Given the description of an element on the screen output the (x, y) to click on. 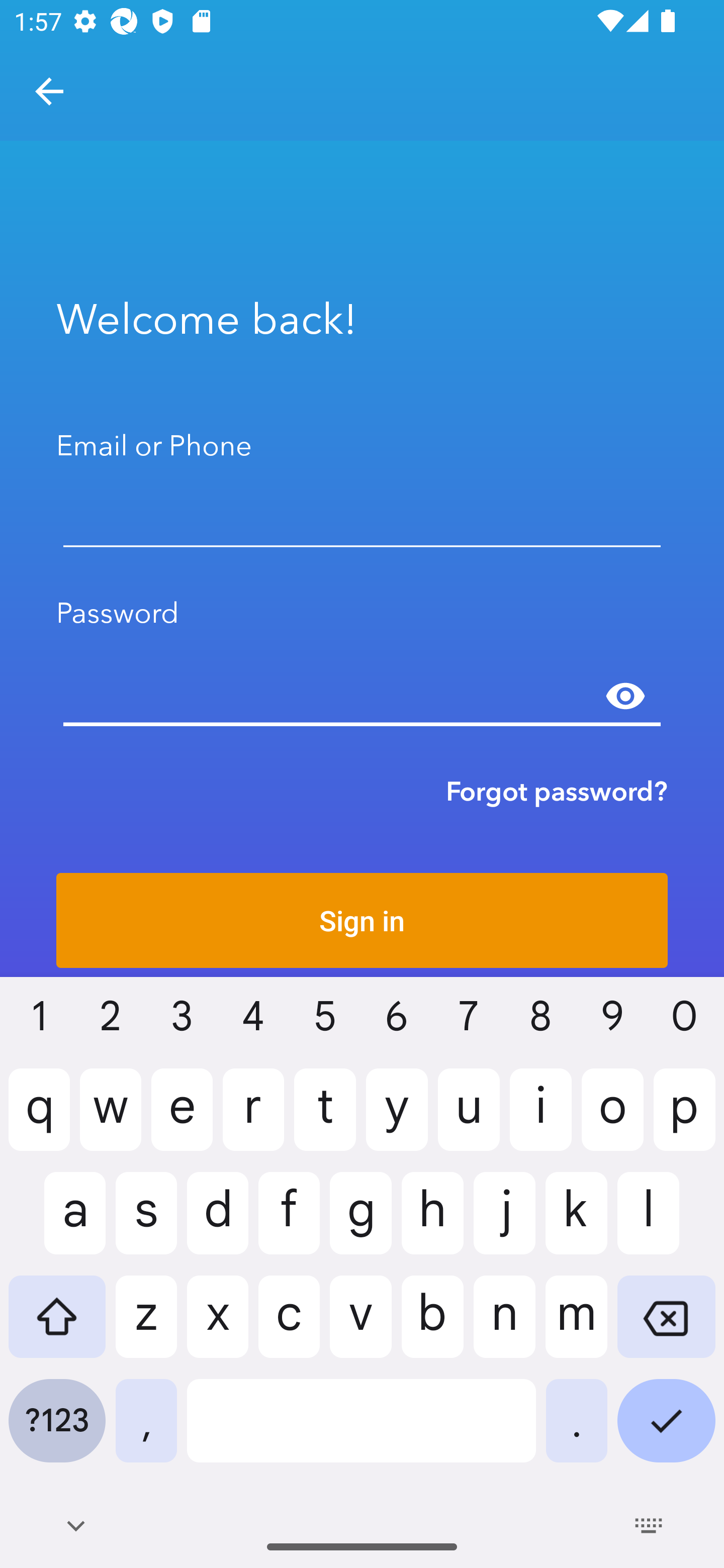
Navigate up (49, 91)
Show password (625, 695)
Forgot password? (556, 790)
Sign in (361, 920)
